Given the description of an element on the screen output the (x, y) to click on. 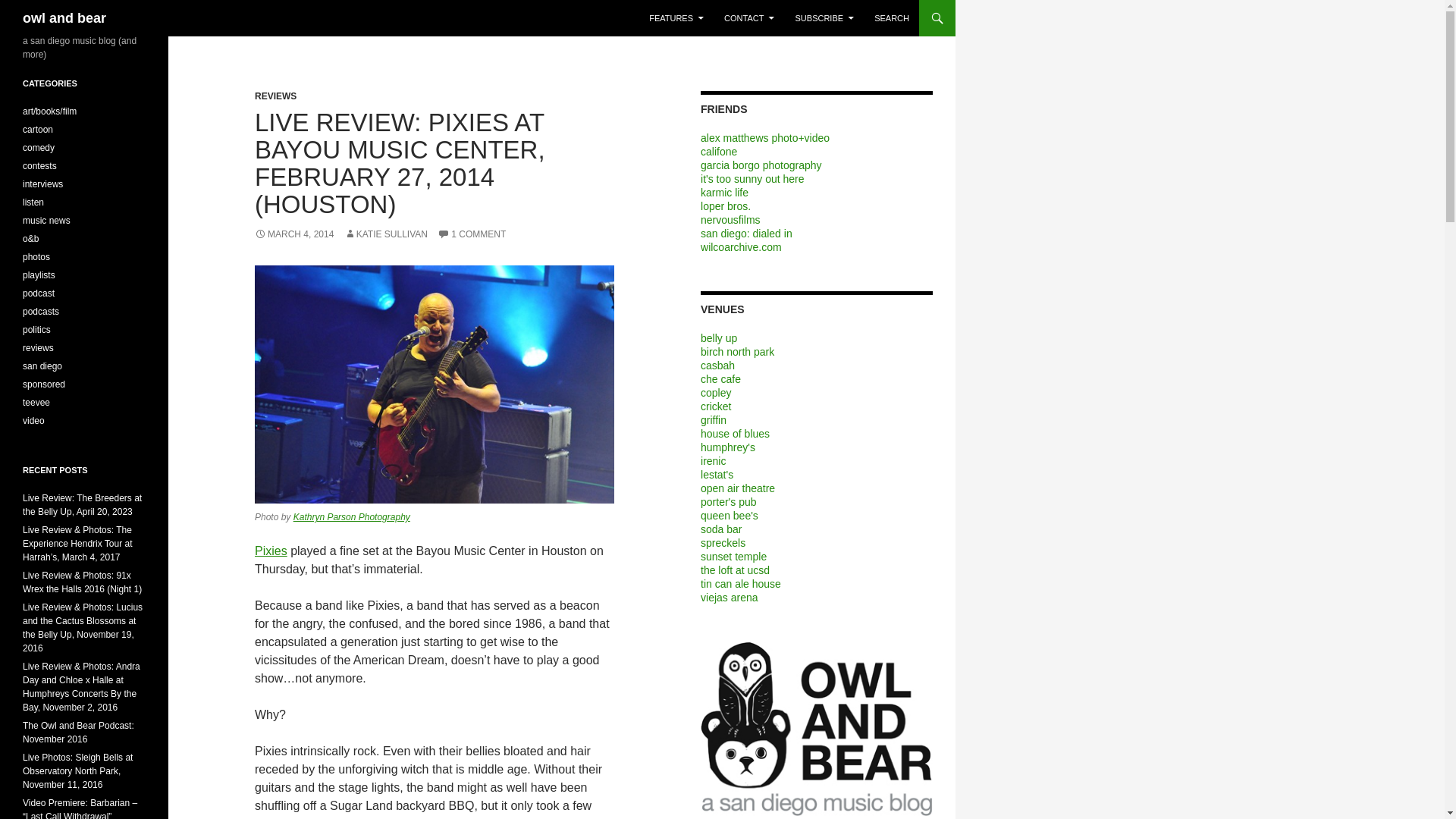
Pixies (270, 550)
FEATURES (676, 18)
CONTACT (748, 18)
KATIE SULLIVAN (385, 234)
MARCH 4, 2014 (293, 234)
REVIEWS (275, 95)
SUBSCRIBE (824, 18)
Search (23, 9)
1 COMMENT (471, 234)
SEARCH (891, 18)
Kathryn Parson Photography (352, 516)
SKIP TO CONTENT (686, 6)
owl and bear (64, 17)
